Given the description of an element on the screen output the (x, y) to click on. 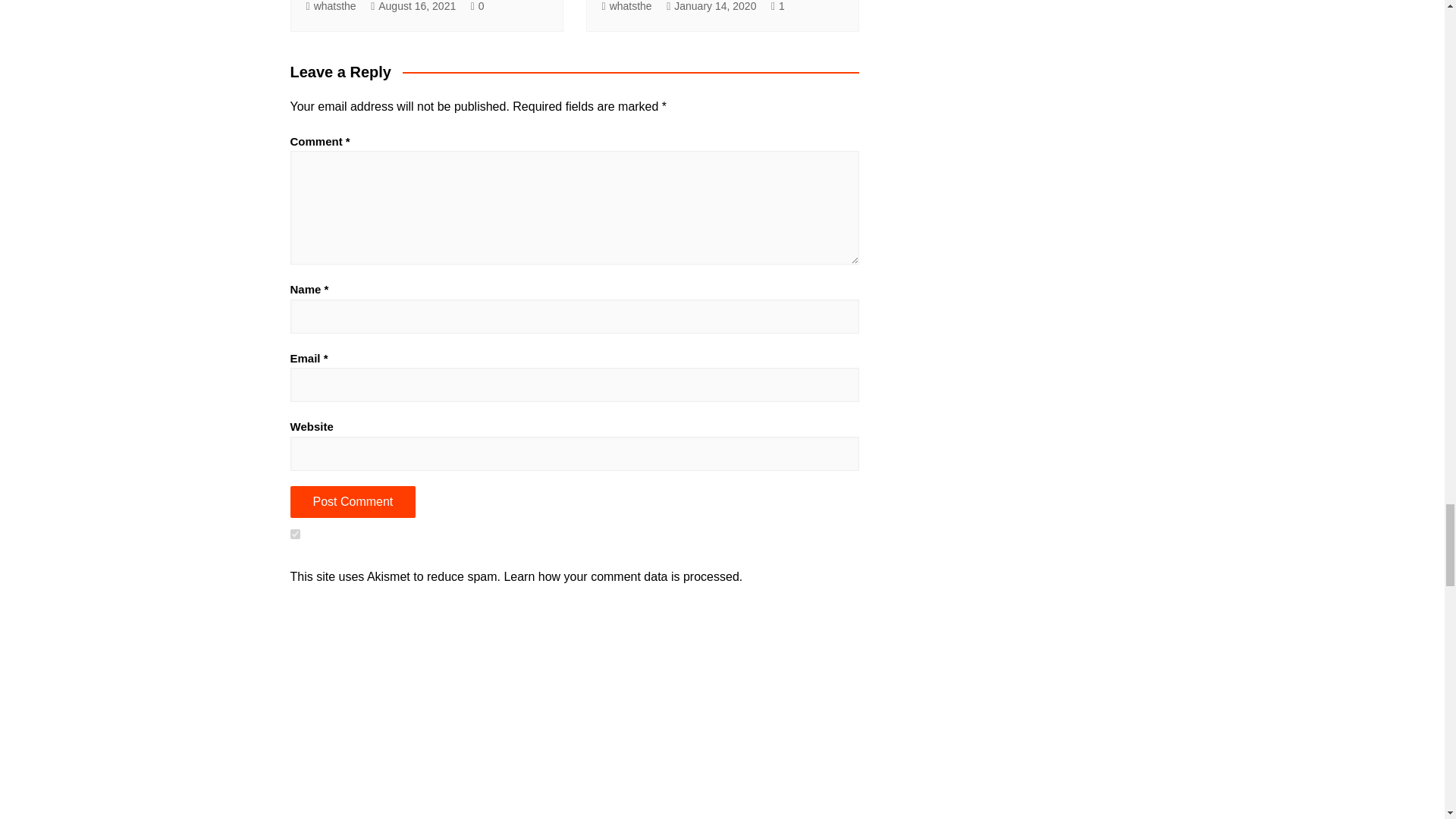
Post Comment (351, 501)
on (294, 533)
